Given the description of an element on the screen output the (x, y) to click on. 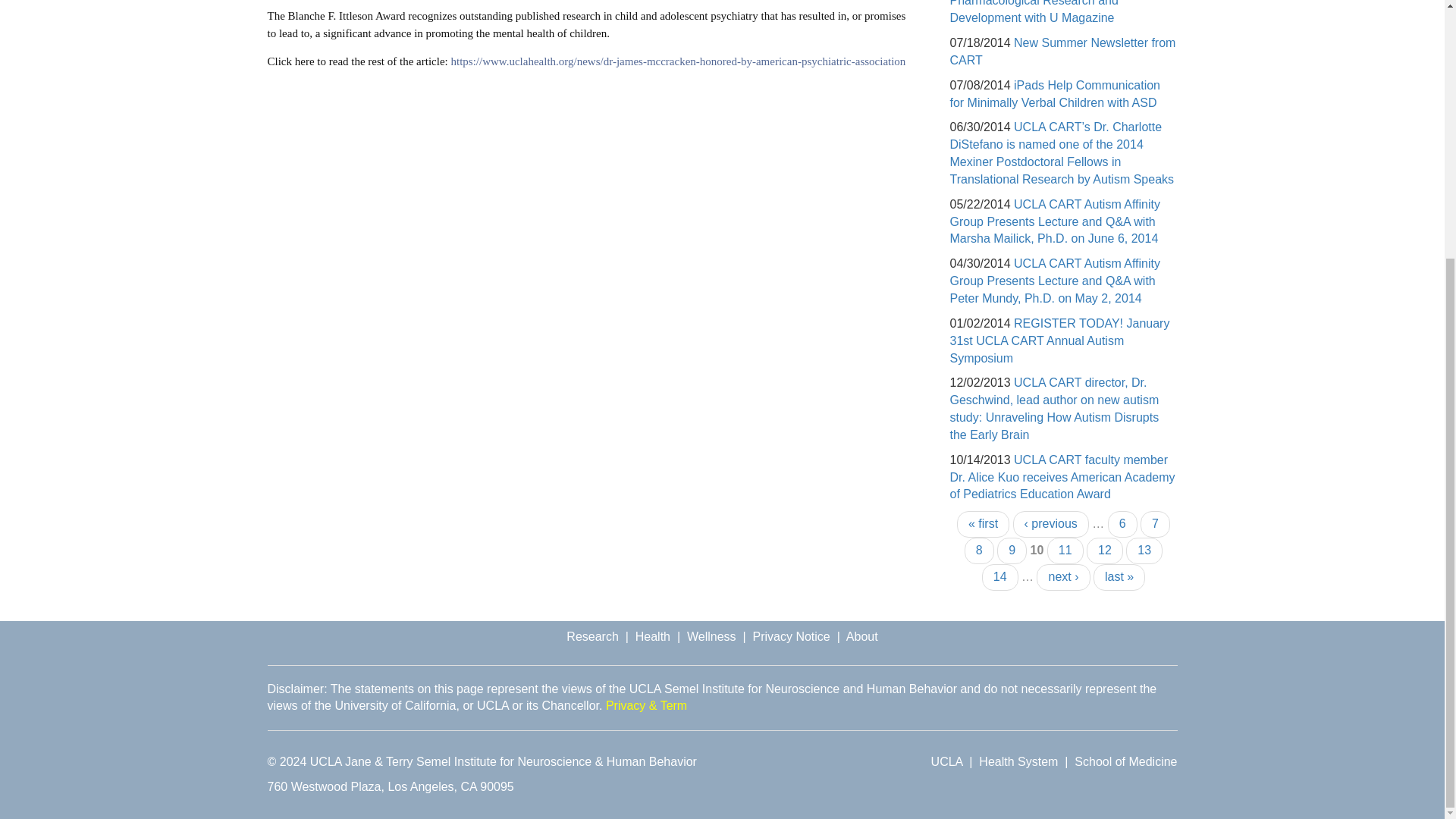
Go to page 14 (999, 577)
Go to page 13 (1143, 550)
Go to page 7 (1155, 524)
Go to previous page (1051, 524)
Go to page 11 (1064, 550)
Go to last page (1118, 577)
Go to page 8 (978, 550)
Go to first page (982, 524)
Go to page 12 (1104, 550)
Go to page 6 (1122, 524)
Go to next page (1062, 577)
Go to page 9 (1011, 550)
